Given the description of an element on the screen output the (x, y) to click on. 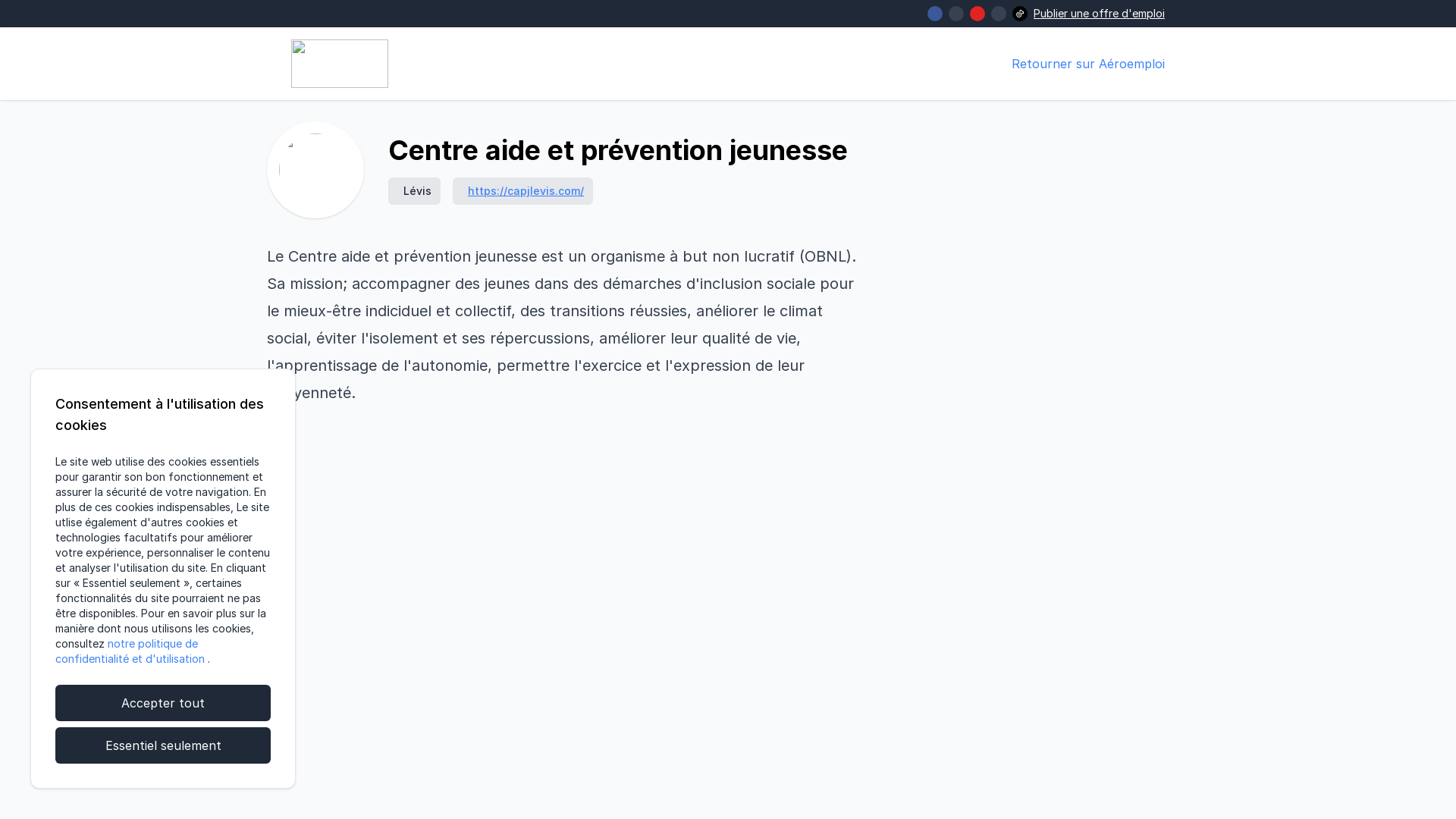
Essentiel seulement Element type: text (162, 745)
Accepter tout Element type: text (162, 702)
https://capjlevis.com/ Element type: text (525, 190)
Publier une offre d'emploi Element type: text (1098, 13)
